Given the description of an element on the screen output the (x, y) to click on. 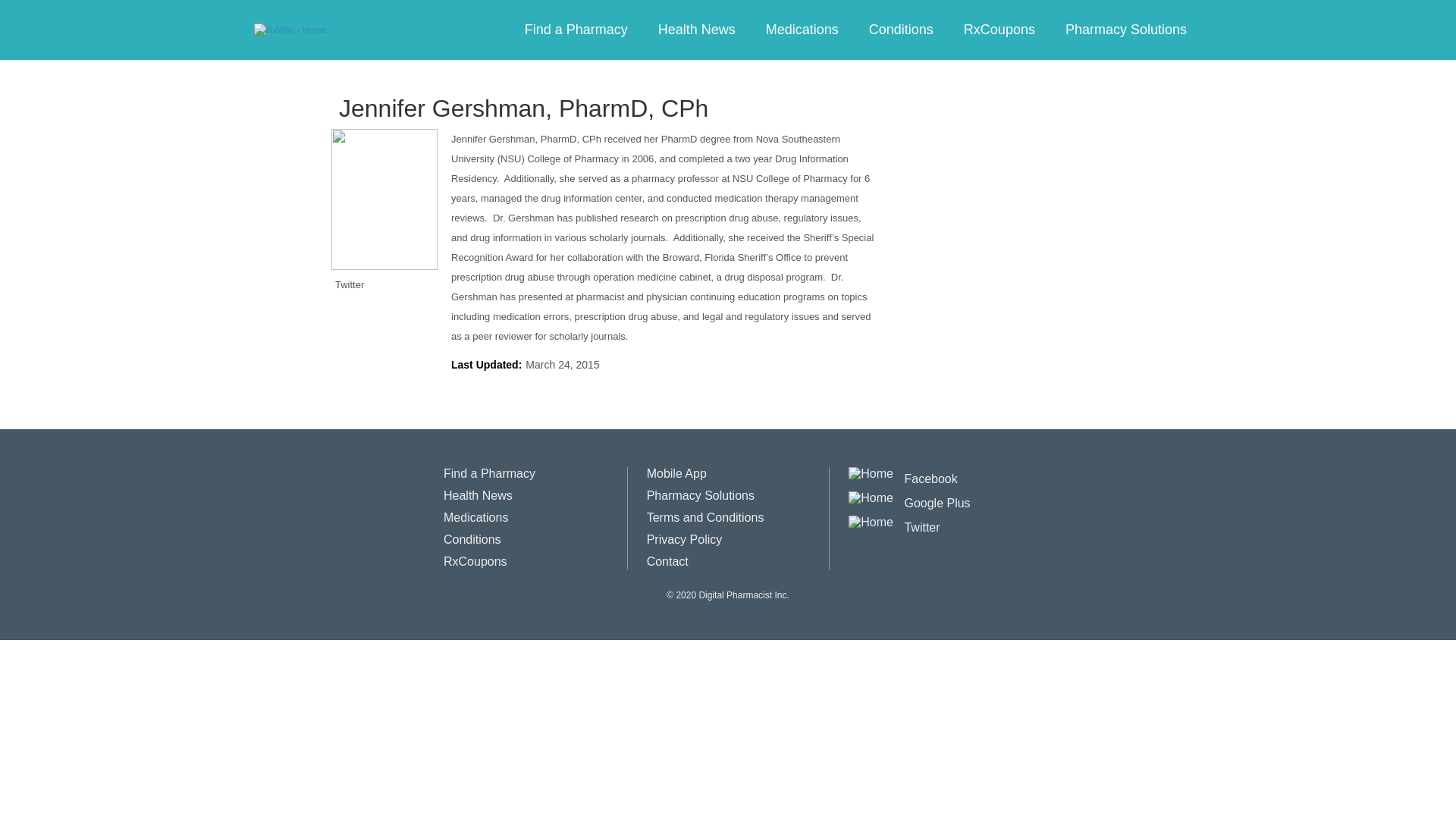
RxWiki (289, 29)
Google Plus (908, 497)
Twitter (893, 521)
Medications (476, 517)
Facebook (902, 472)
Contact (667, 561)
RxCoupons (475, 561)
Mobile App (676, 472)
Find a Pharmacy (576, 29)
Conditions (901, 29)
Medications (802, 29)
Pharmacy Solutions (700, 495)
Pharmacy Solutions (1125, 29)
RxCoupons (999, 29)
Health News (478, 495)
